Given the description of an element on the screen output the (x, y) to click on. 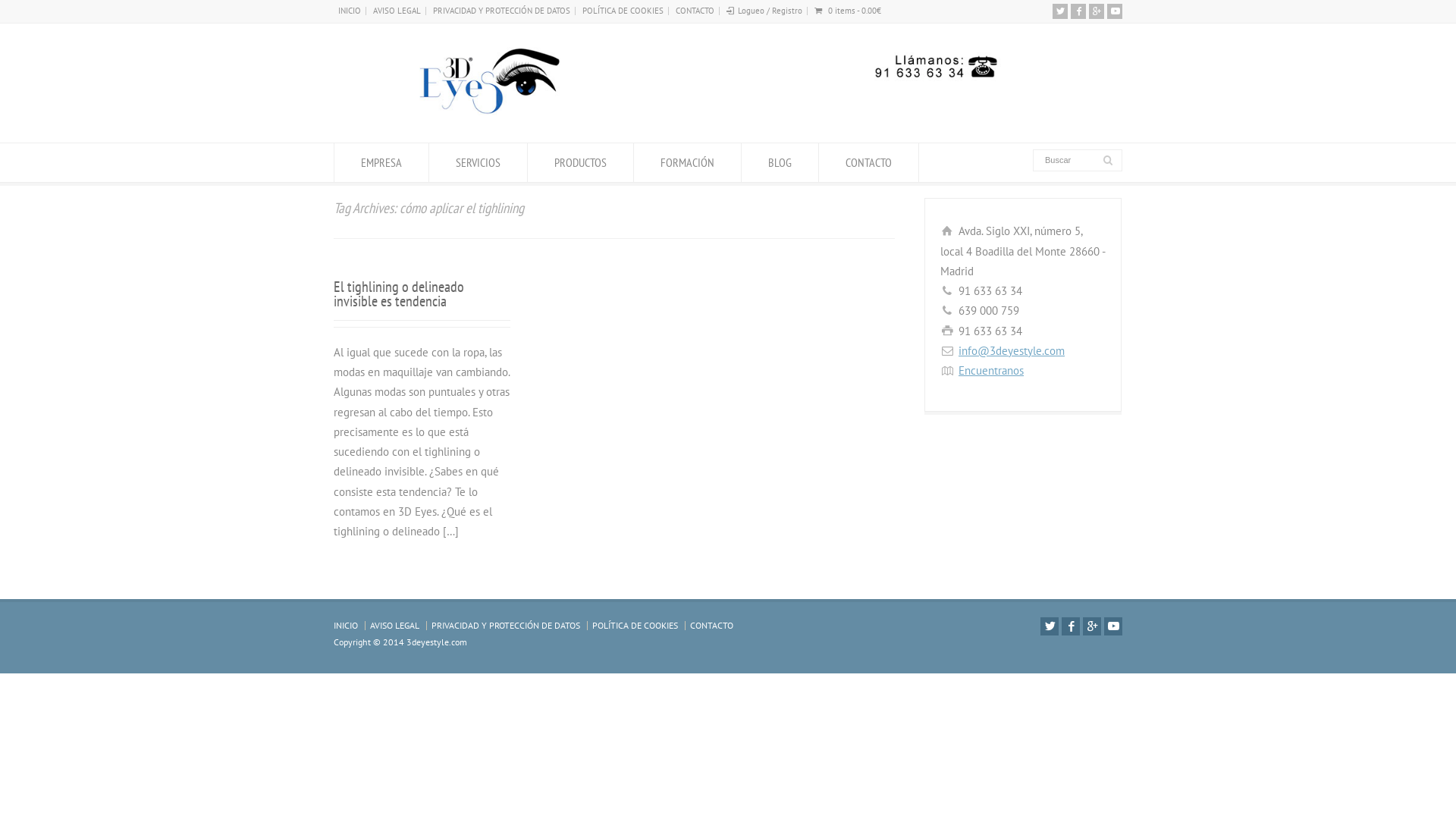
INICIO Element type: text (345, 624)
YouTube Element type: hover (1113, 626)
3Deyestyle - 3d eyes style Element type: hover (712, 113)
AVISO LEGAL Element type: text (394, 624)
Logueo / Registro Element type: text (769, 10)
BLOG Element type: text (779, 162)
Twitter Element type: hover (1049, 626)
Google + Element type: hover (1091, 626)
EMPRESA Element type: text (381, 162)
CONTACTO Element type: text (711, 624)
Facebook Element type: hover (1077, 10)
SERVICIOS Element type: text (478, 162)
AVISO LEGAL Element type: text (396, 10)
YouTube Element type: hover (1114, 10)
CONTACTO Element type: text (694, 10)
CONTACTO Element type: text (868, 162)
Encuentranos Element type: text (990, 370)
Facebook Element type: hover (1070, 626)
PRODUCTOS Element type: text (580, 162)
El tighlining o delineado invisible es tendencia Element type: text (398, 293)
Google + Element type: hover (1096, 10)
INICIO Element type: text (349, 10)
info@3deyestyle.com Element type: text (1011, 350)
Twitter Element type: hover (1059, 10)
